Given the description of an element on the screen output the (x, y) to click on. 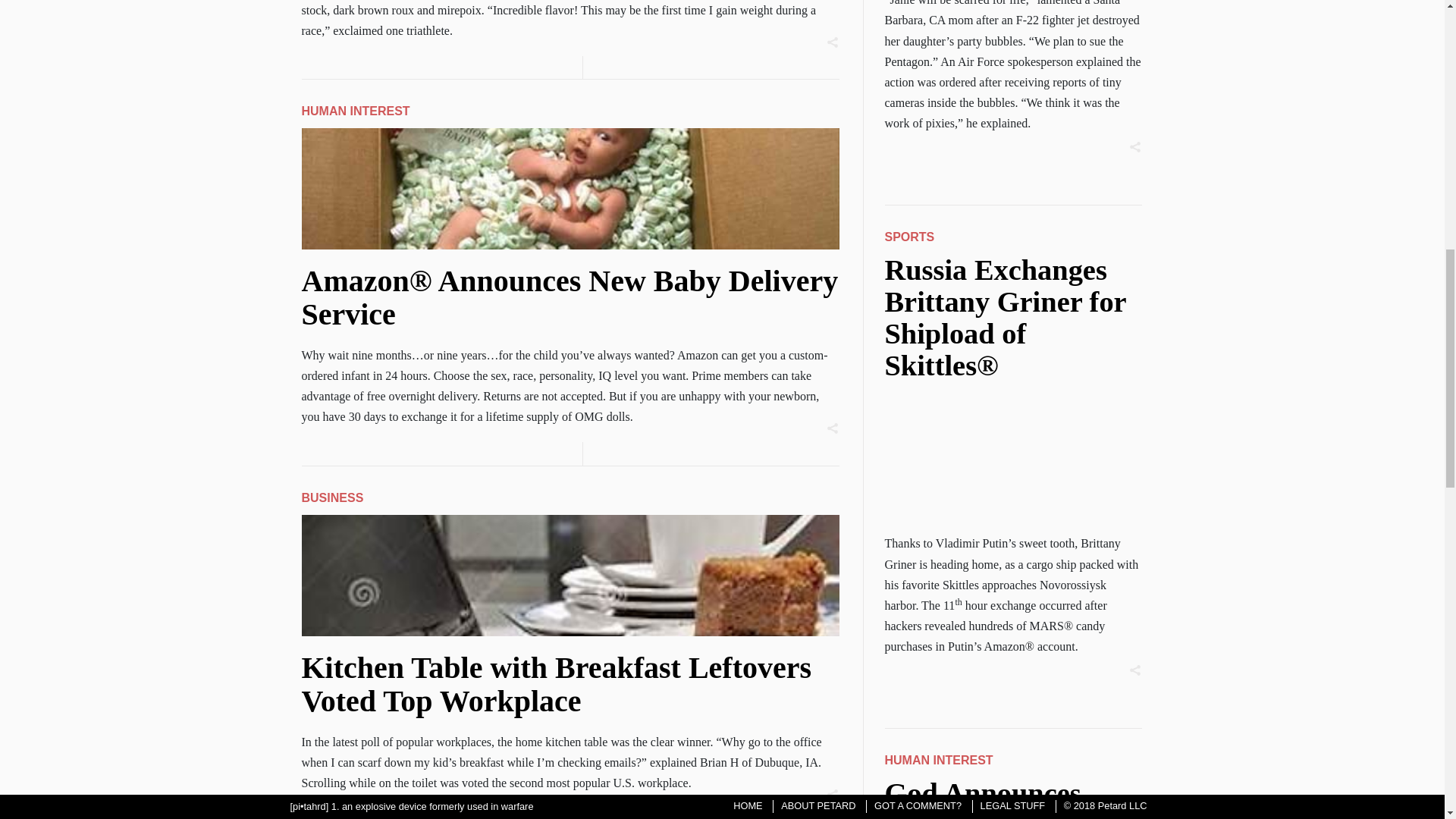
Share (1143, 147)
SPORTS (908, 236)
HUMAN INTEREST (355, 110)
BUSINESS (332, 497)
Kitchen Table with Breakfast Leftovers Voted Top Workplace (556, 684)
Share (840, 41)
Share (840, 428)
Share (840, 794)
